Given the description of an element on the screen output the (x, y) to click on. 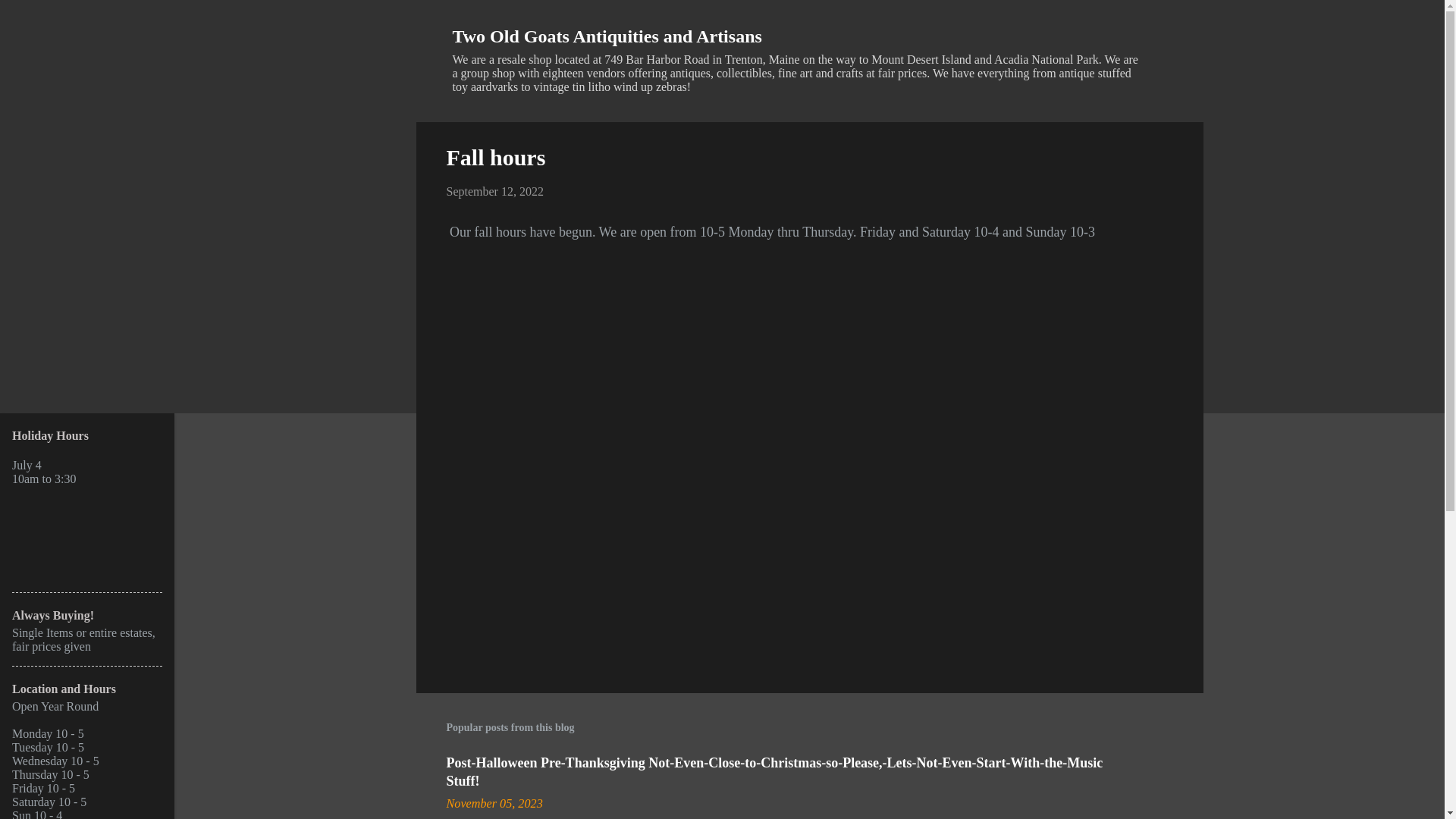
permanent link (494, 191)
November 05, 2023 (493, 803)
permanent link (493, 803)
Search (31, 18)
September 12, 2022 (494, 191)
Two Old Goats Antiquities and Artisans (606, 35)
